Given the description of an element on the screen output the (x, y) to click on. 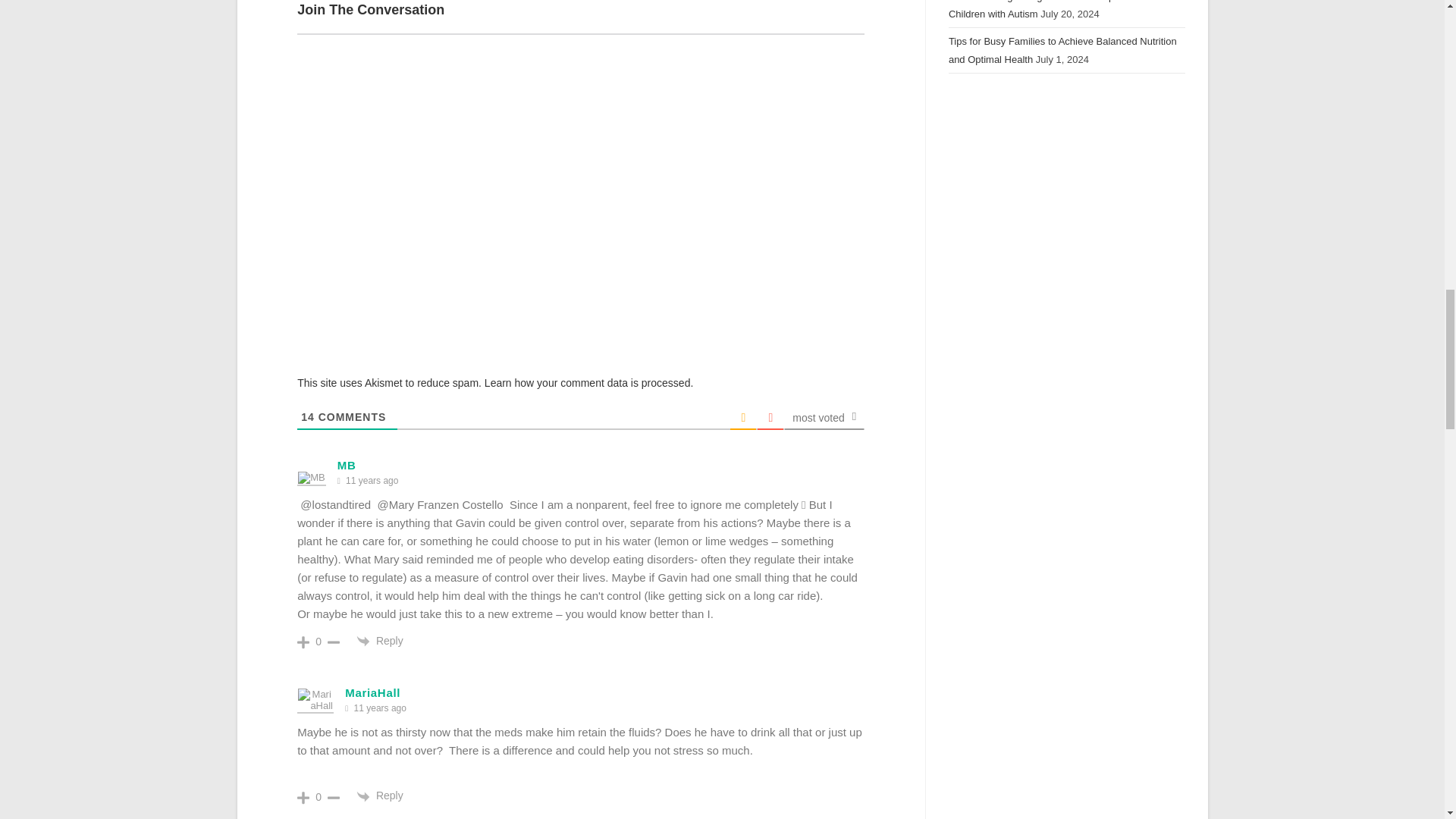
0 (317, 641)
September 1, 2012 3:35 am (371, 481)
14 (307, 417)
